Given the description of an element on the screen output the (x, y) to click on. 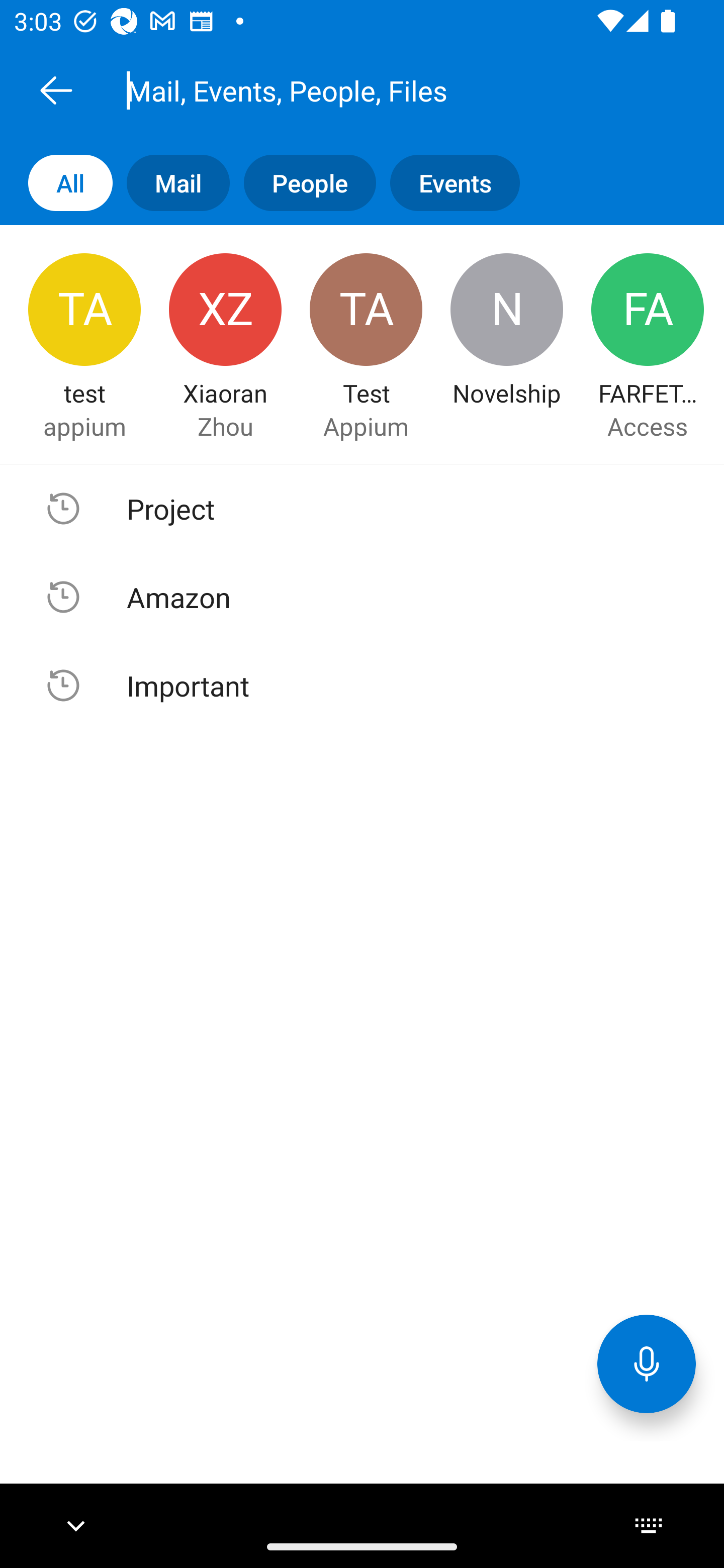
Back (55, 89)
Mail, Events, People, Files (384, 89)
Mail (170, 183)
People (302, 183)
Events (447, 183)
Suggested search , Text, Project Project (362, 508)
Suggested search , Text, Amazon Amazon (362, 597)
Suggested search , Text, Important Important (362, 685)
Voice Assistant (646, 1362)
